Given the description of an element on the screen output the (x, y) to click on. 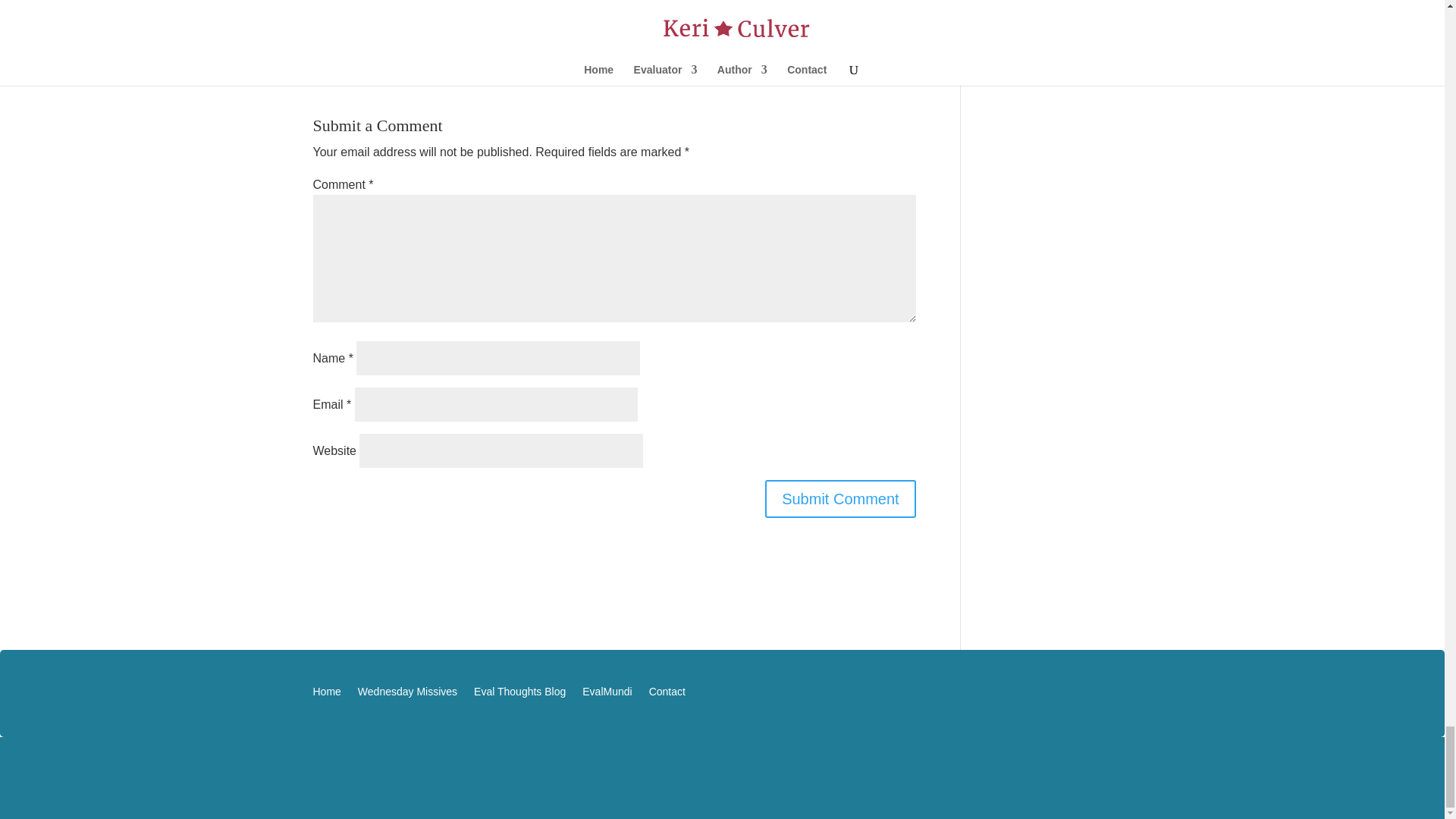
EvalMundi (606, 694)
Submit Comment (840, 498)
Home (326, 694)
Eval Thoughts Blog (520, 694)
Wednesday Missives (407, 694)
Contact (667, 694)
Submit Comment (840, 498)
